Given the description of an element on the screen output the (x, y) to click on. 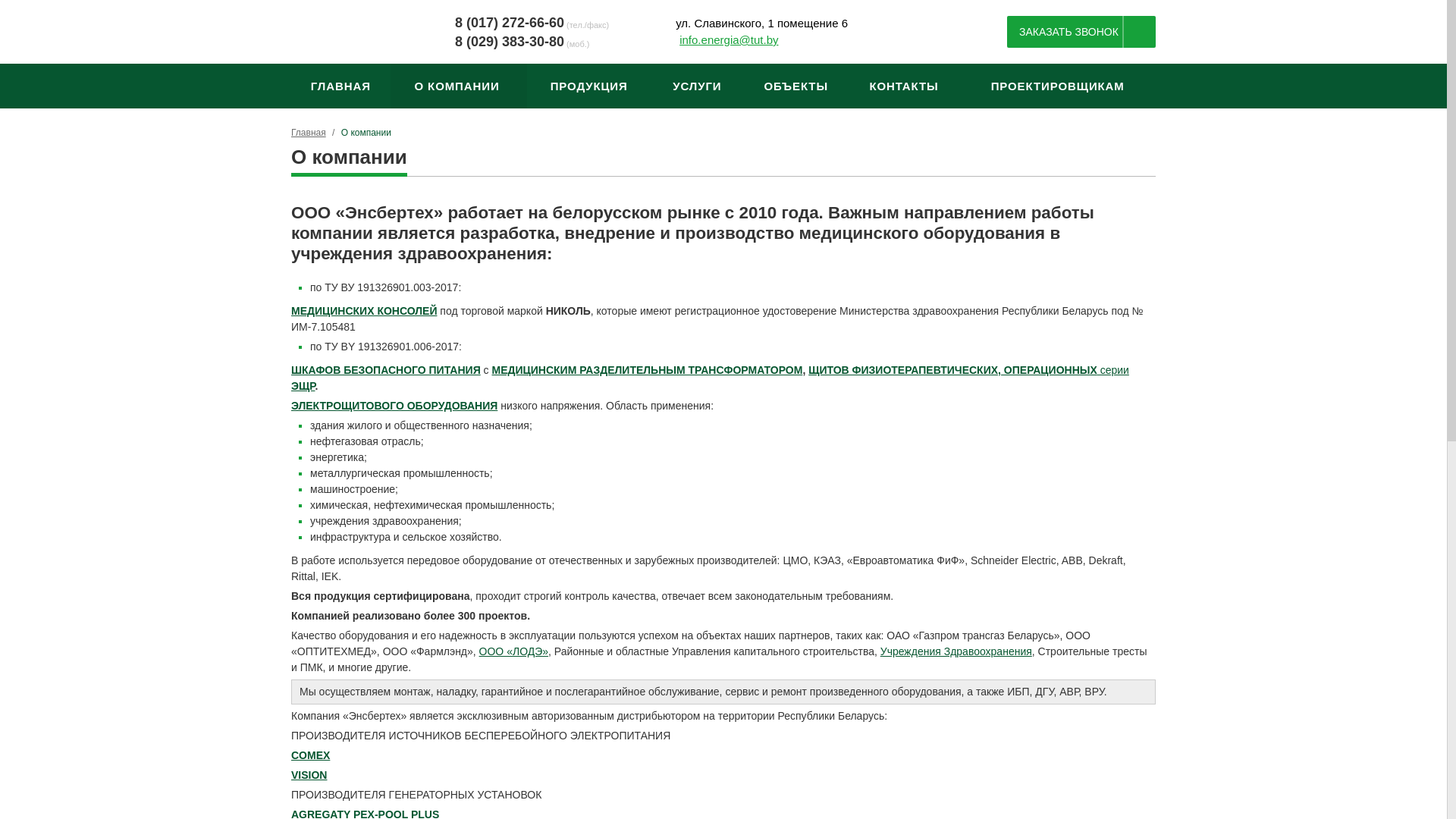
VISION Element type: text (308, 774)
COMEX Element type: text (310, 755)
8 (017) 272-66-60 Element type: text (509, 21)
info.energia@tut.by Element type: text (728, 39)
8 (029) 383-30-80 Element type: text (509, 41)
